Given the description of an element on the screen output the (x, y) to click on. 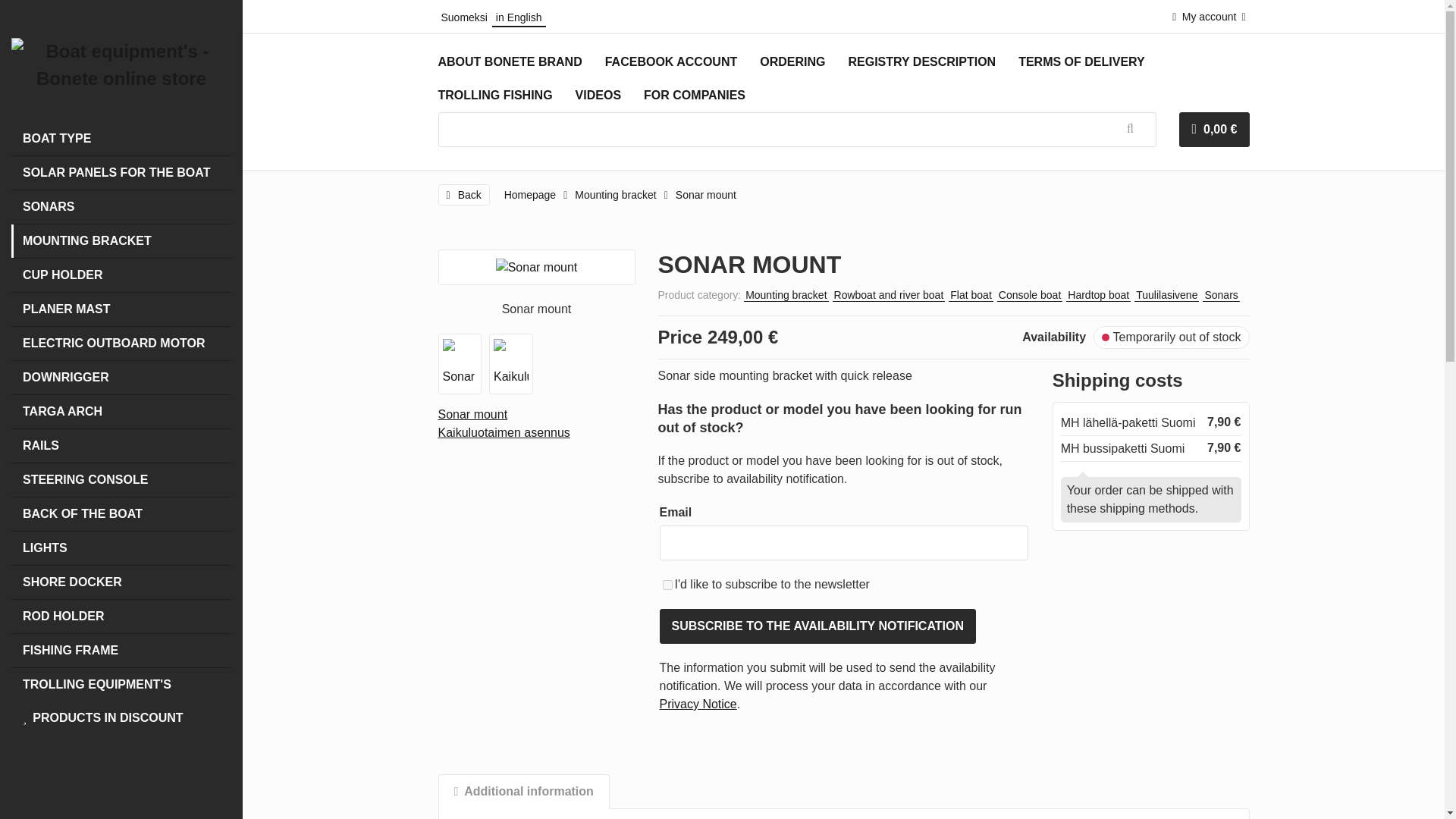
Rails (121, 445)
Boat equipment's - Bonete online store (121, 64)
ELECTRIC OUTBOARD MOTOR (121, 343)
in English (519, 17)
STEERING CONSOLE (121, 479)
TROLLING FISHING (494, 95)
FISHING FRAME (121, 650)
REGISTRY DESCRIPTION (921, 61)
CUP HOLDER (121, 274)
LIGHTS (121, 547)
Cup holder (121, 274)
Steering console (121, 479)
SOLAR PANELS FOR THE BOAT (121, 172)
SONARS (121, 206)
Back of the boat (121, 513)
